Given the description of an element on the screen output the (x, y) to click on. 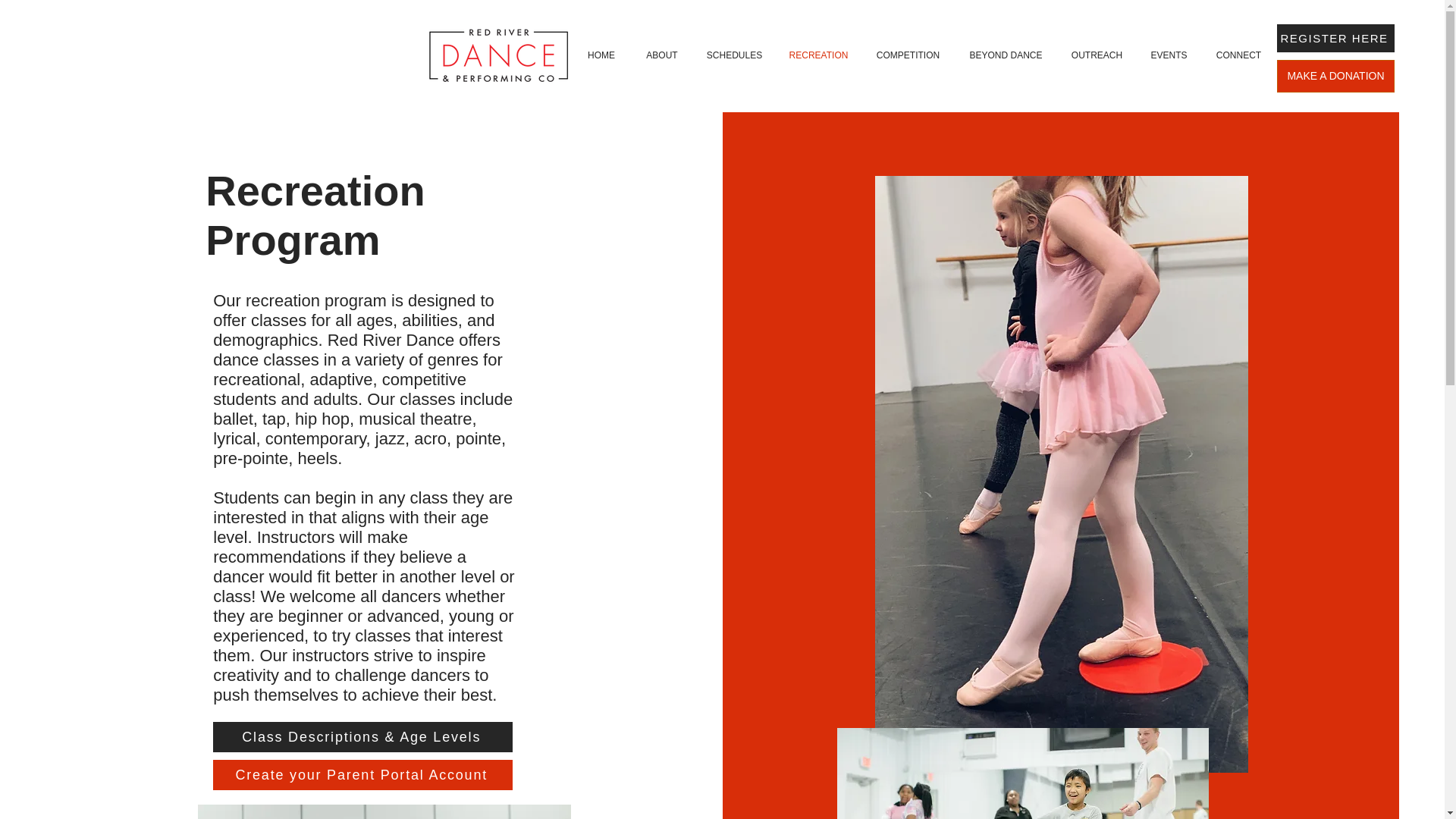
ABOUT (661, 56)
OUTREACH (1097, 56)
EVENTS (1169, 56)
Create your Parent Portal Account (362, 775)
REGISTER HERE (1335, 38)
COMPETITION (908, 56)
BEYOND DANCE (1006, 56)
MAKE A DONATION (1335, 75)
CONNECT (1238, 56)
RECREATION (818, 56)
SCHEDULES (734, 56)
HOME (601, 56)
